Given the description of an element on the screen output the (x, y) to click on. 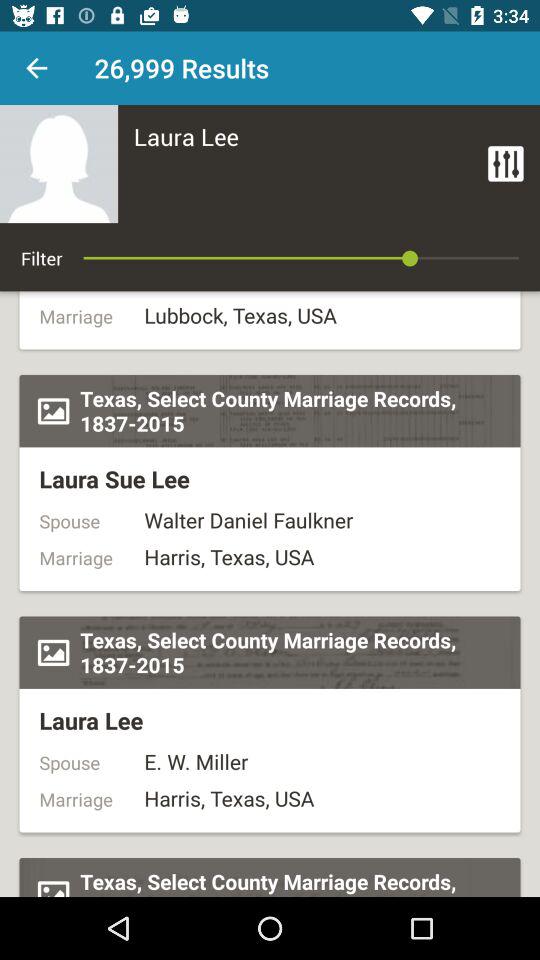
launch the icon to the left of 26,999 results app (36, 68)
